Given the description of an element on the screen output the (x, y) to click on. 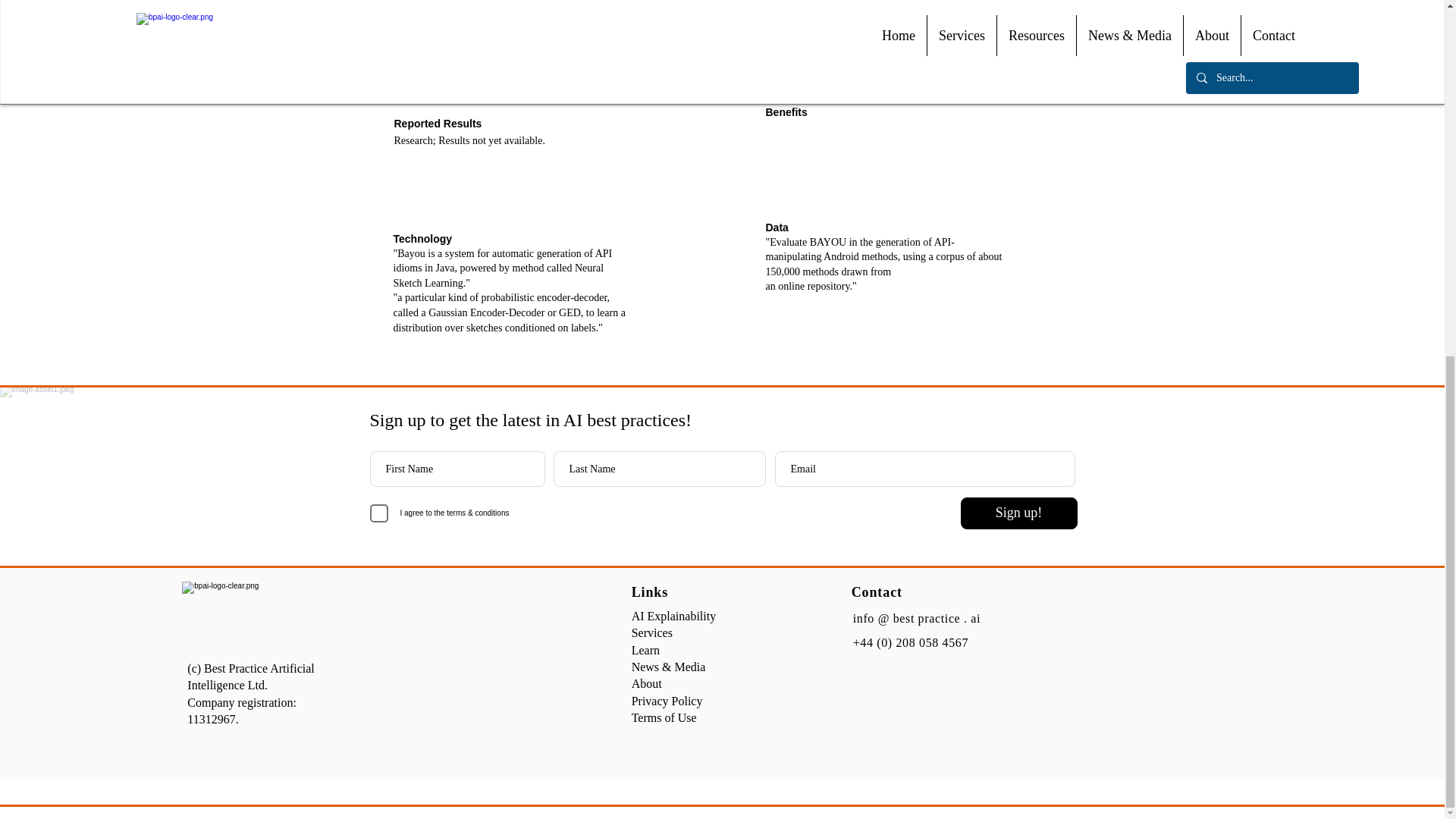
Services (651, 632)
Contact (876, 591)
Privacy Policy (667, 700)
Learn (645, 649)
Sign up! (1018, 513)
About (646, 683)
Terms of Use (664, 717)
AI Explainability (673, 615)
